Given the description of an element on the screen output the (x, y) to click on. 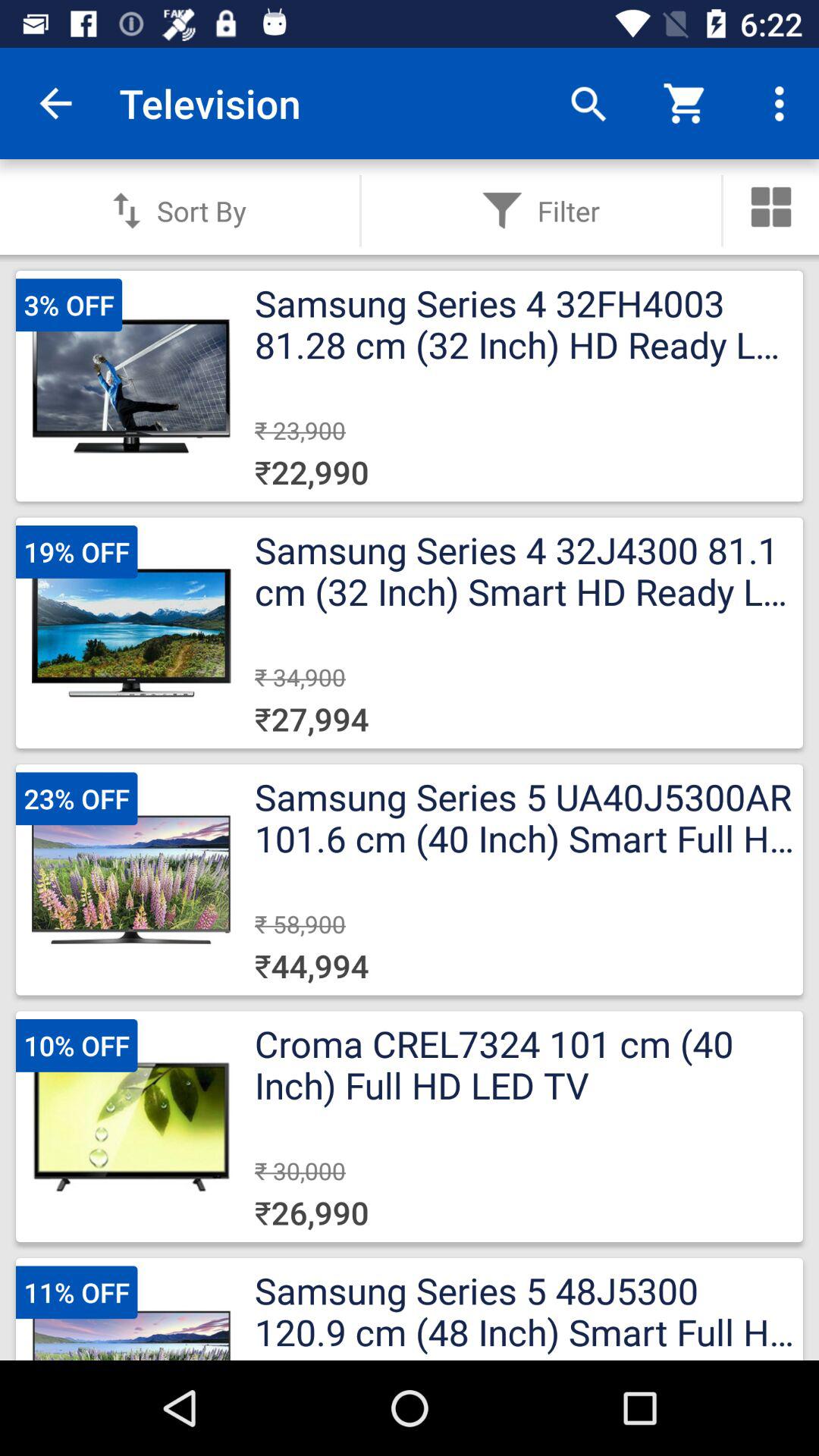
turn off the icon next to the television (55, 103)
